Given the description of an element on the screen output the (x, y) to click on. 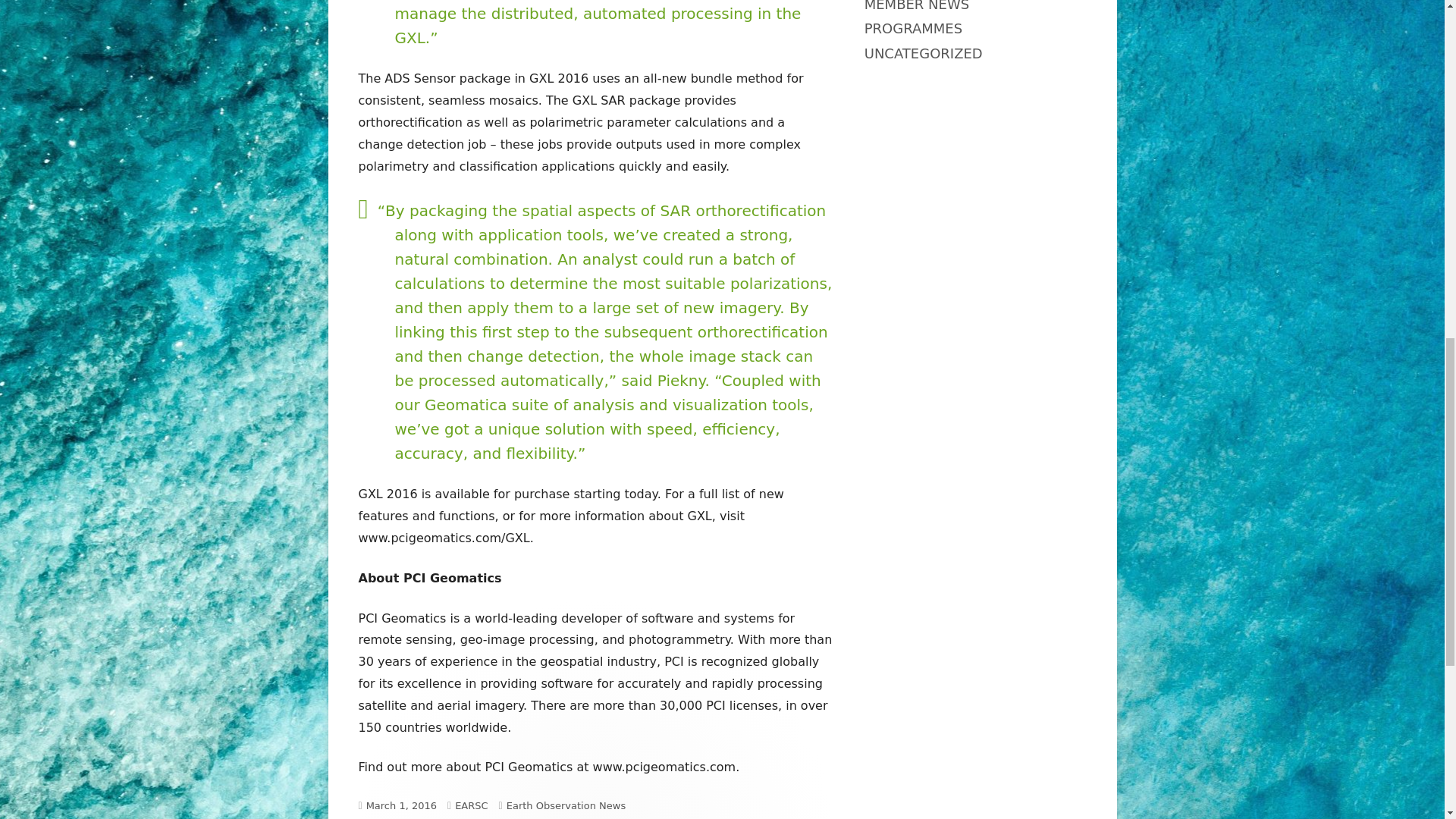
UNCATEGORIZED (923, 53)
EARSC (470, 805)
MEMBER NEWS (916, 6)
March 1, 2016 (401, 805)
Earth Observation News (566, 805)
PROGRAMMES (913, 28)
